Given the description of an element on the screen output the (x, y) to click on. 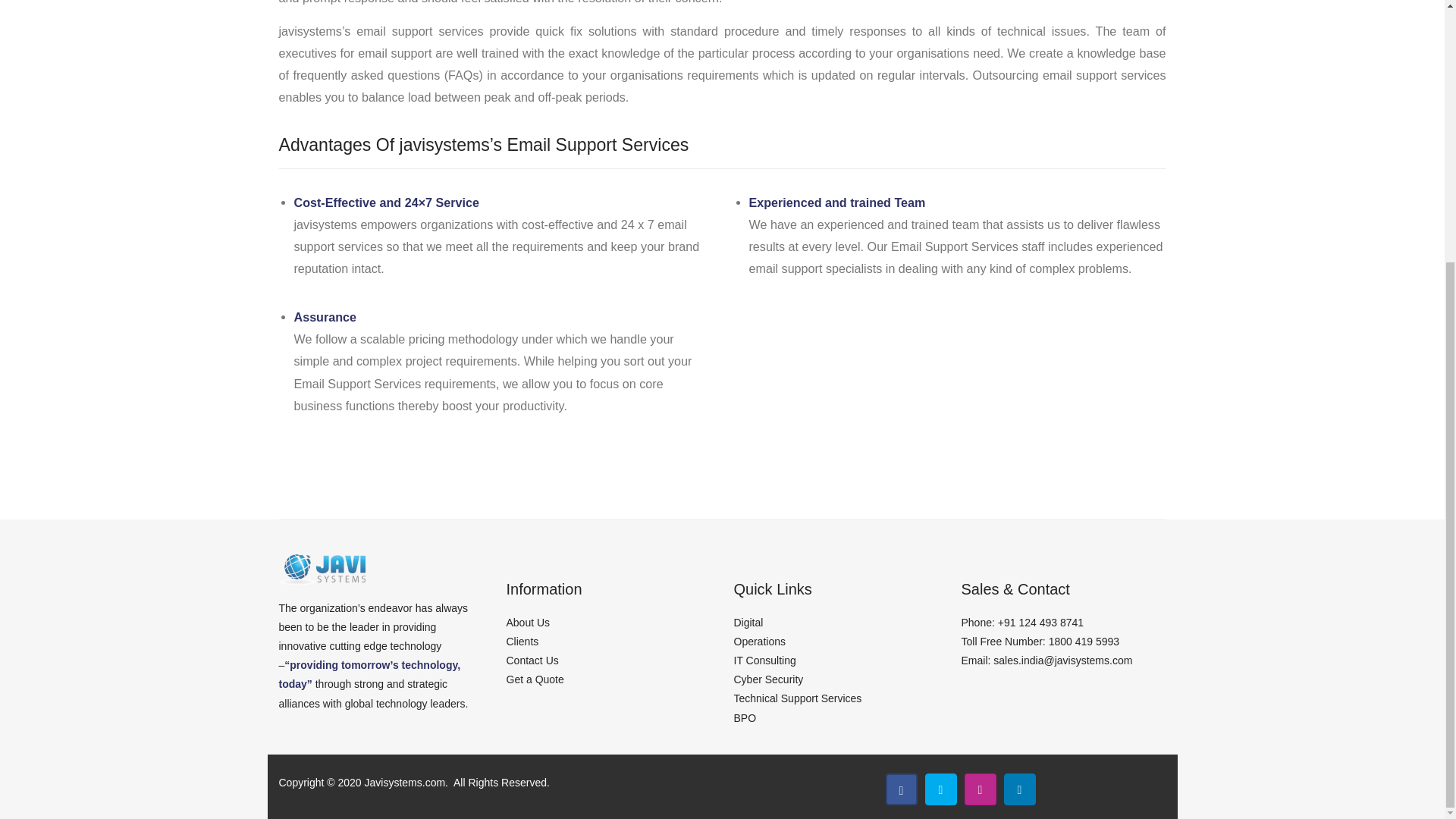
JaviSystems (322, 567)
